Given the description of an element on the screen output the (x, y) to click on. 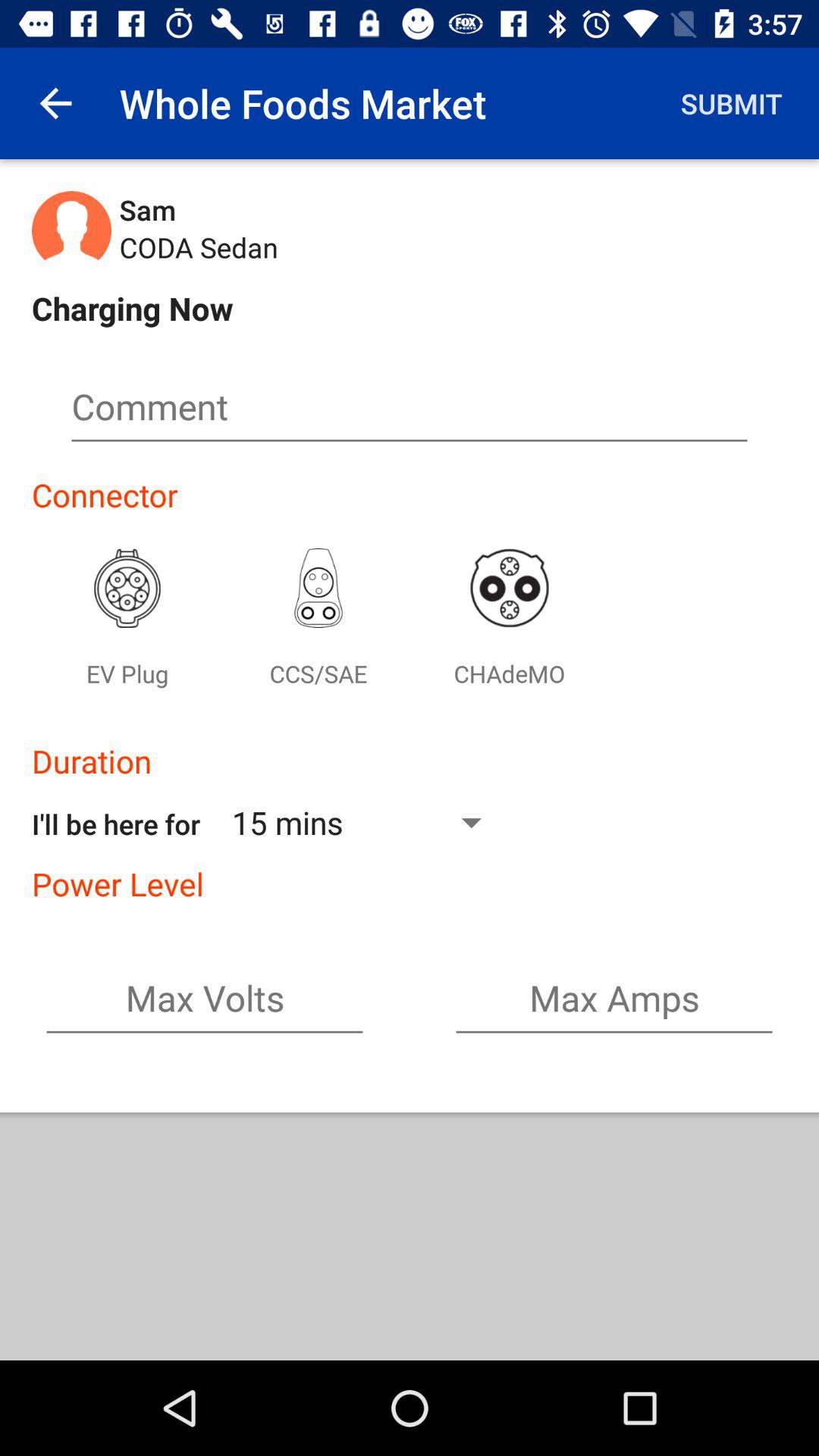
back option (55, 103)
